Given the description of an element on the screen output the (x, y) to click on. 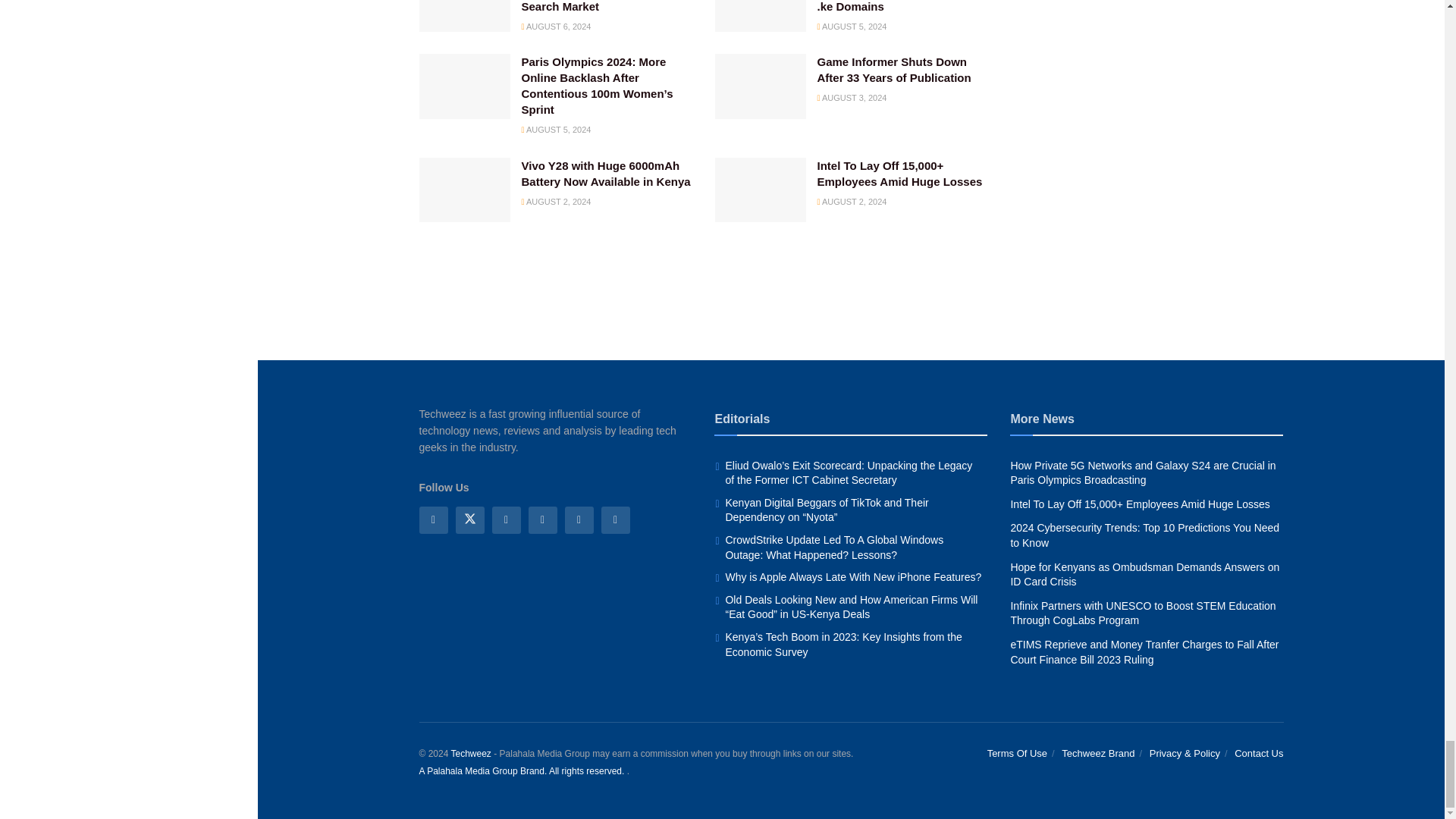
Techweez, a Palahala Media Group Brand. All rights reserved (469, 753)
